Given the description of an element on the screen output the (x, y) to click on. 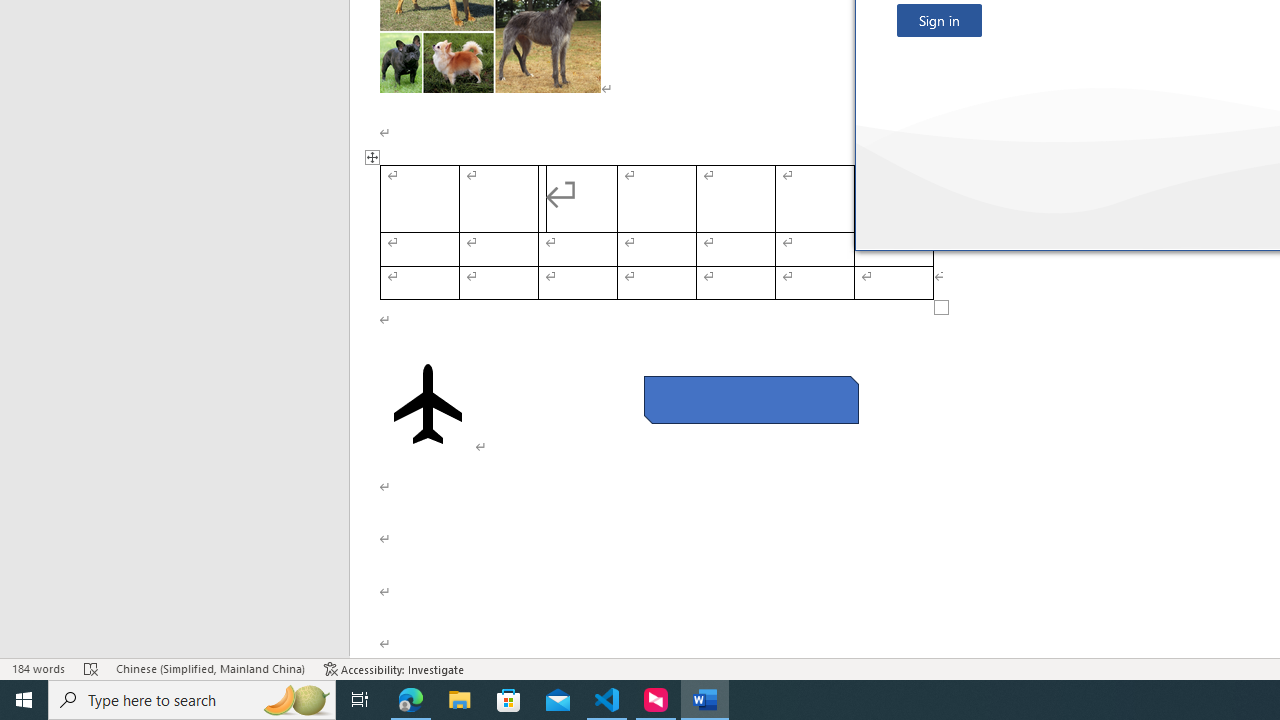
File Explorer (460, 699)
